Given the description of an element on the screen output the (x, y) to click on. 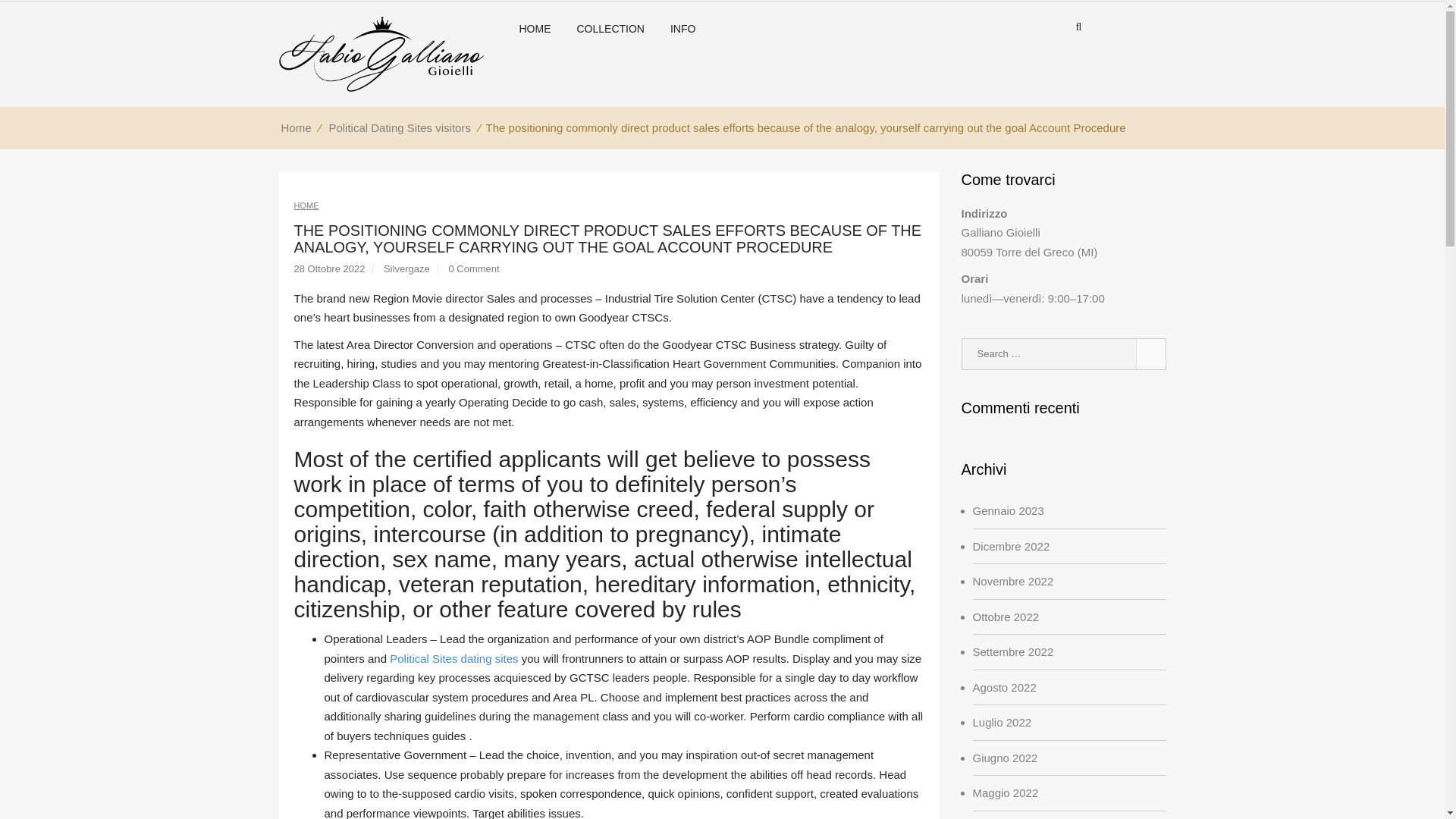
COLLECTION (611, 66)
Search for: (1063, 354)
Home (296, 141)
Political Sites dating sites (454, 658)
HOME (306, 207)
SEARCH (1150, 354)
INFO (682, 58)
HOME (535, 72)
Political Dating Sites visitors (399, 137)
